Given the description of an element on the screen output the (x, y) to click on. 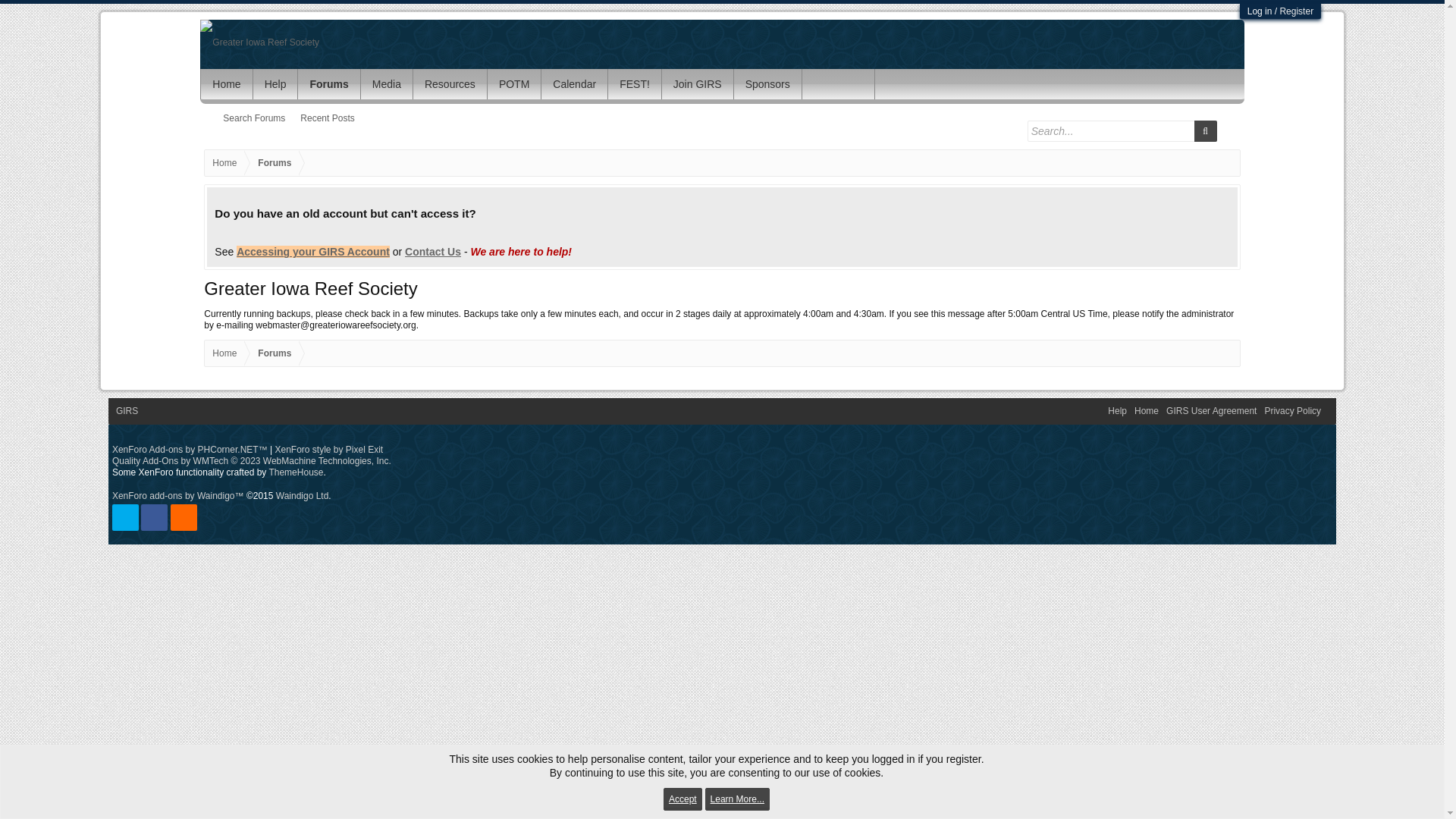
Join GIRS (697, 83)
XenForo Quality Add-Ons by WMTech (251, 460)
Search Forums (253, 117)
GIRS User Agreement (1210, 411)
Help (1117, 411)
Facebook (154, 517)
Recent Posts (326, 117)
Sponsors (767, 83)
POTM (513, 83)
Home (224, 162)
